Given the description of an element on the screen output the (x, y) to click on. 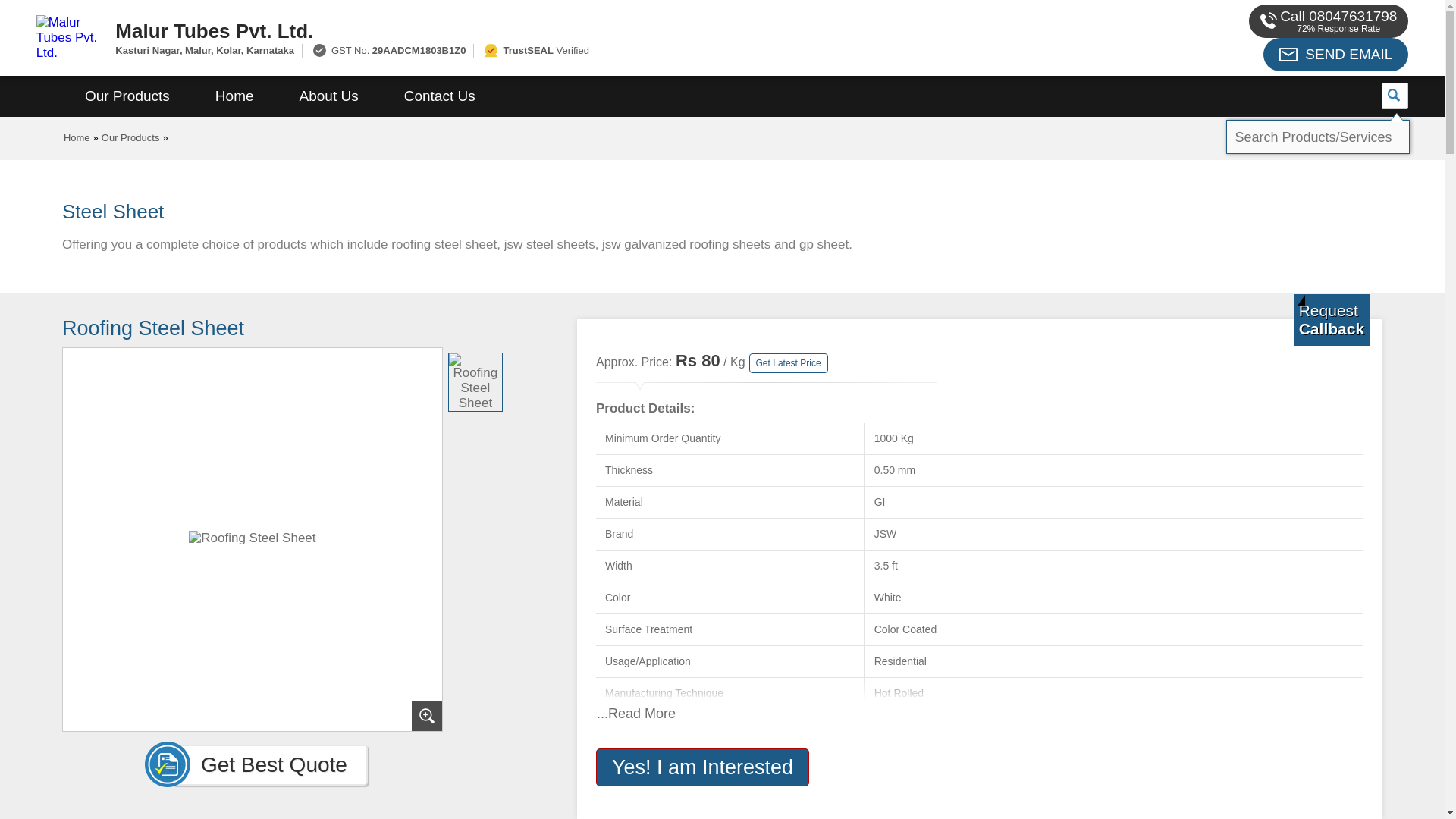
Get a Call from us (1332, 319)
Malur Tubes Pvt. Ltd. (552, 31)
Our Products (127, 96)
